Given the description of an element on the screen output the (x, y) to click on. 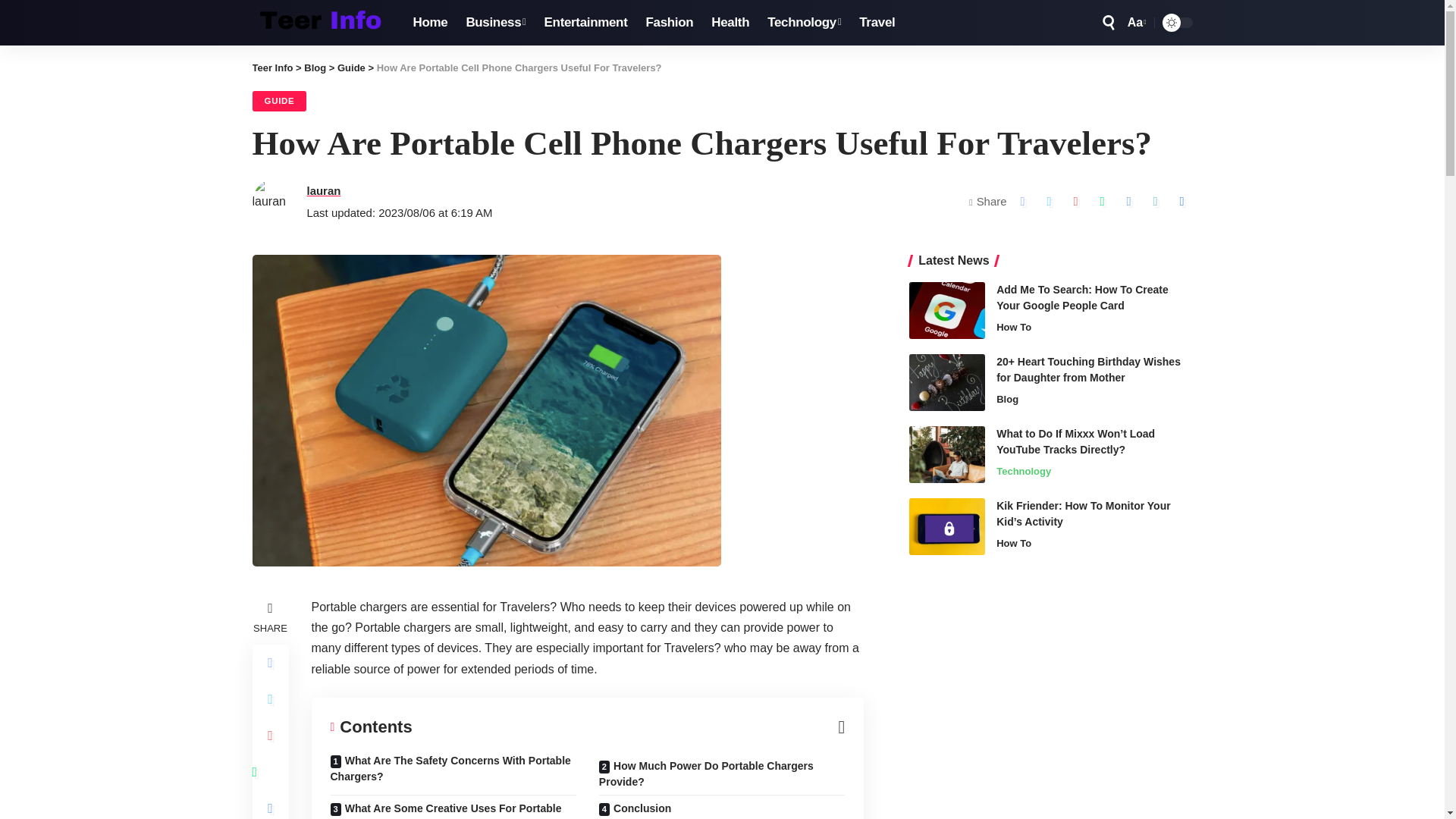
Entertainment (586, 22)
Travel (877, 22)
Add Me To Search: How To Create Your Google People Card (946, 310)
Health (729, 22)
Aa (1135, 22)
Home (430, 22)
Go to the Guide Category archives. (351, 67)
Business (495, 22)
Go to Teer Info. (271, 67)
Go to Blog. (315, 67)
Technology (804, 22)
Teer Info (319, 22)
Fashion (668, 22)
